Given the description of an element on the screen output the (x, y) to click on. 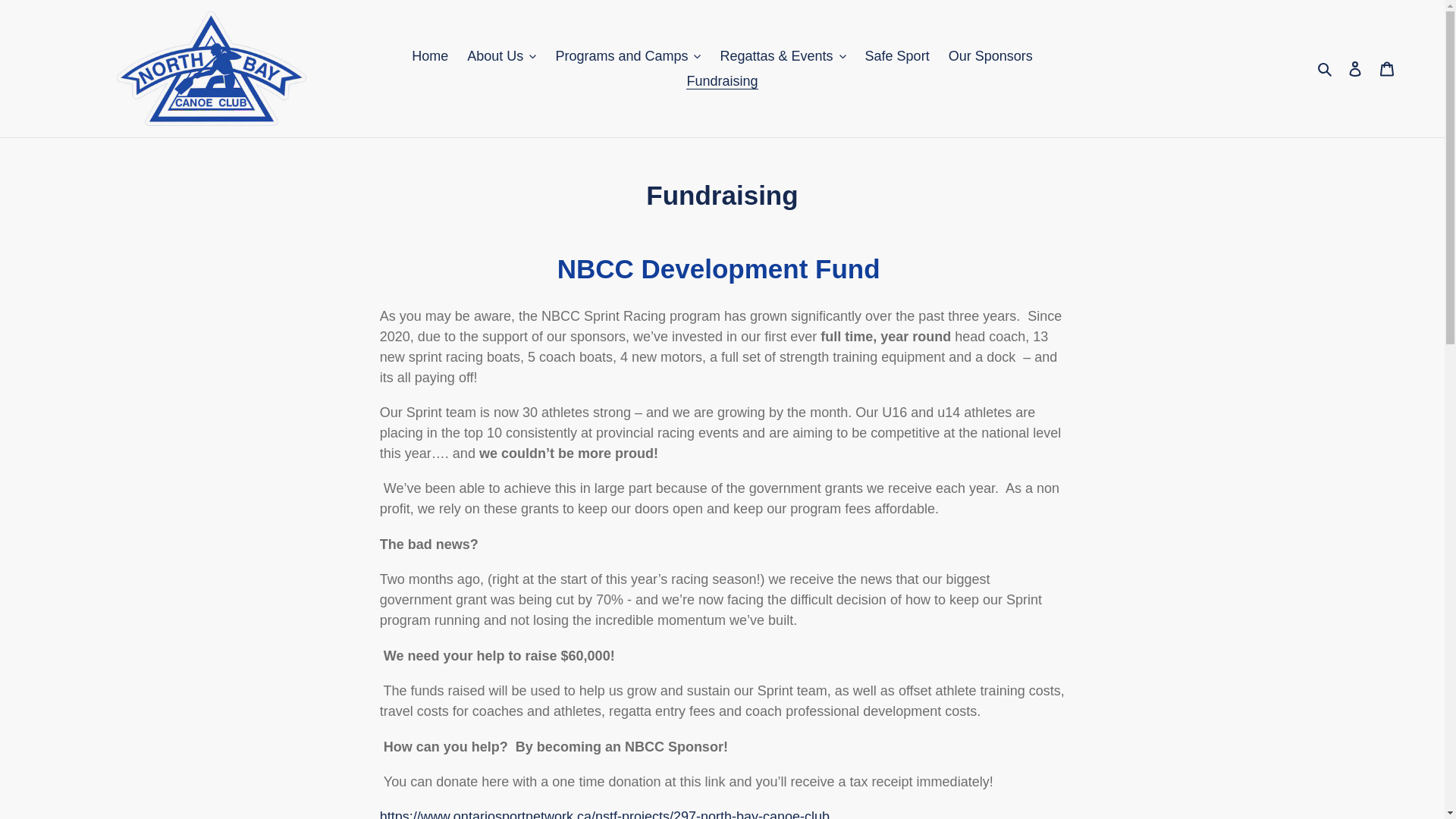
Safe Sport (897, 56)
Log in (1355, 68)
About Us (501, 56)
Our Sponsors (990, 56)
Fundraising (721, 80)
Search (1326, 68)
Programs and Camps (627, 56)
Home (429, 56)
Cart (1387, 68)
